Given the description of an element on the screen output the (x, y) to click on. 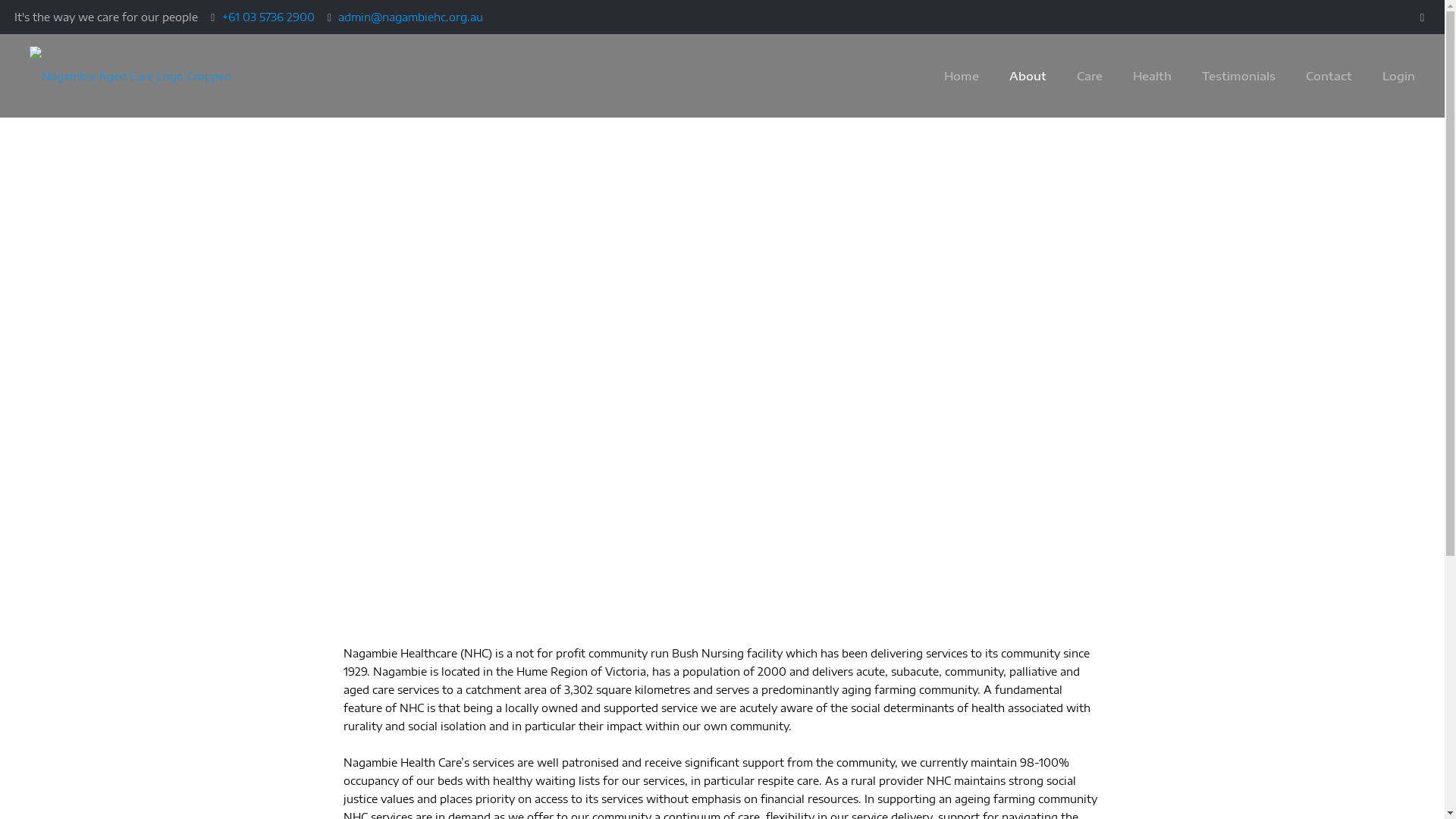
About Element type: text (1027, 75)
+61 03 5736 2900 Element type: text (268, 16)
Nagambie HC Element type: hover (133, 75)
Login Element type: text (1398, 75)
Home Element type: text (961, 75)
Testimonials Element type: text (1238, 75)
Care Element type: text (1089, 75)
Contact Element type: text (1328, 75)
admin@nagambiehc.org.au Element type: text (410, 16)
Health Element type: text (1151, 75)
Facebook Element type: hover (1422, 16)
